Given the description of an element on the screen output the (x, y) to click on. 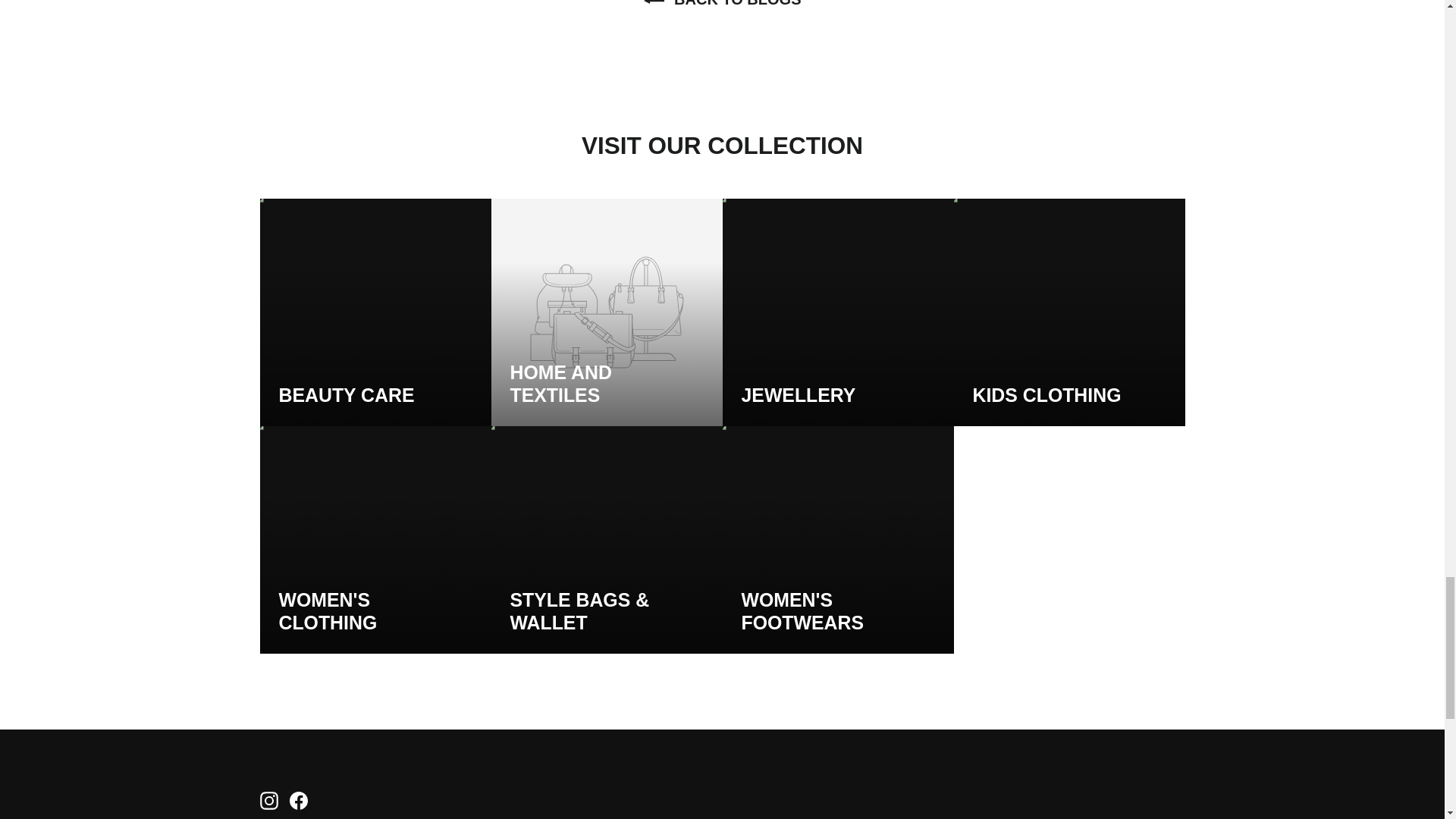
ICON-LEFT-ARROW (653, 4)
BEAUTY CARE (374, 312)
ALQ Mercado on Facebook (298, 800)
ICON-LEFT-ARROW BACK TO BLOGS (722, 3)
instagram (268, 800)
